Given the description of an element on the screen output the (x, y) to click on. 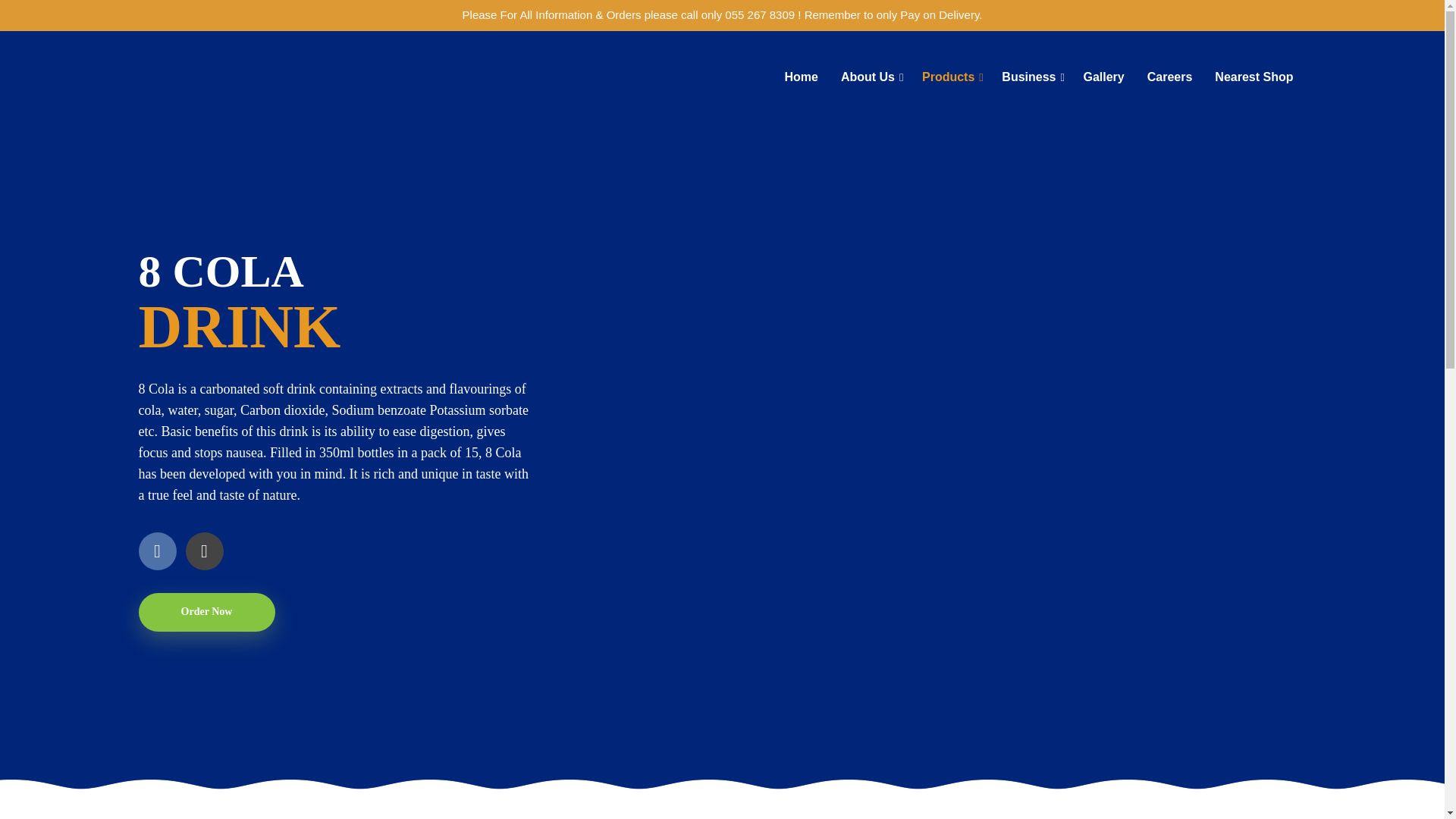
Home (800, 69)
Careers (1169, 69)
Products (948, 69)
About Us (867, 69)
Nearest Shop (1254, 69)
Order Now (206, 611)
Business (1028, 69)
Gallery (1103, 69)
